Given the description of an element on the screen output the (x, y) to click on. 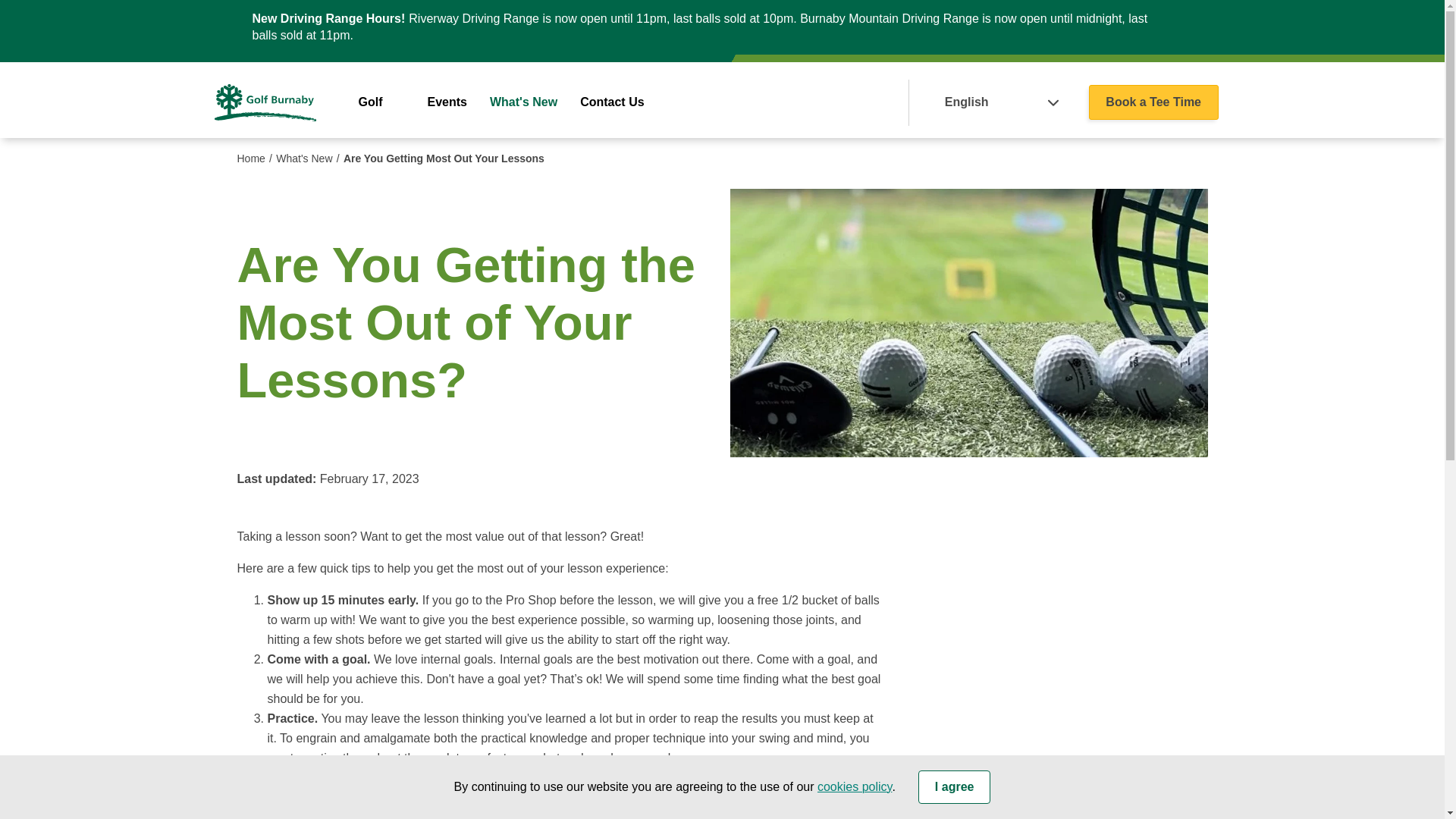
cookies policy (853, 786)
I agree (954, 786)
Dismiss Alert (1177, 27)
Events (447, 102)
What's New (309, 158)
Privacy Statement (853, 786)
Home (255, 158)
Dismiss Alert (1181, 25)
Contact Us (611, 102)
Golf (369, 102)
What's New (523, 102)
Book a Tee Time (1153, 102)
